Given the description of an element on the screen output the (x, y) to click on. 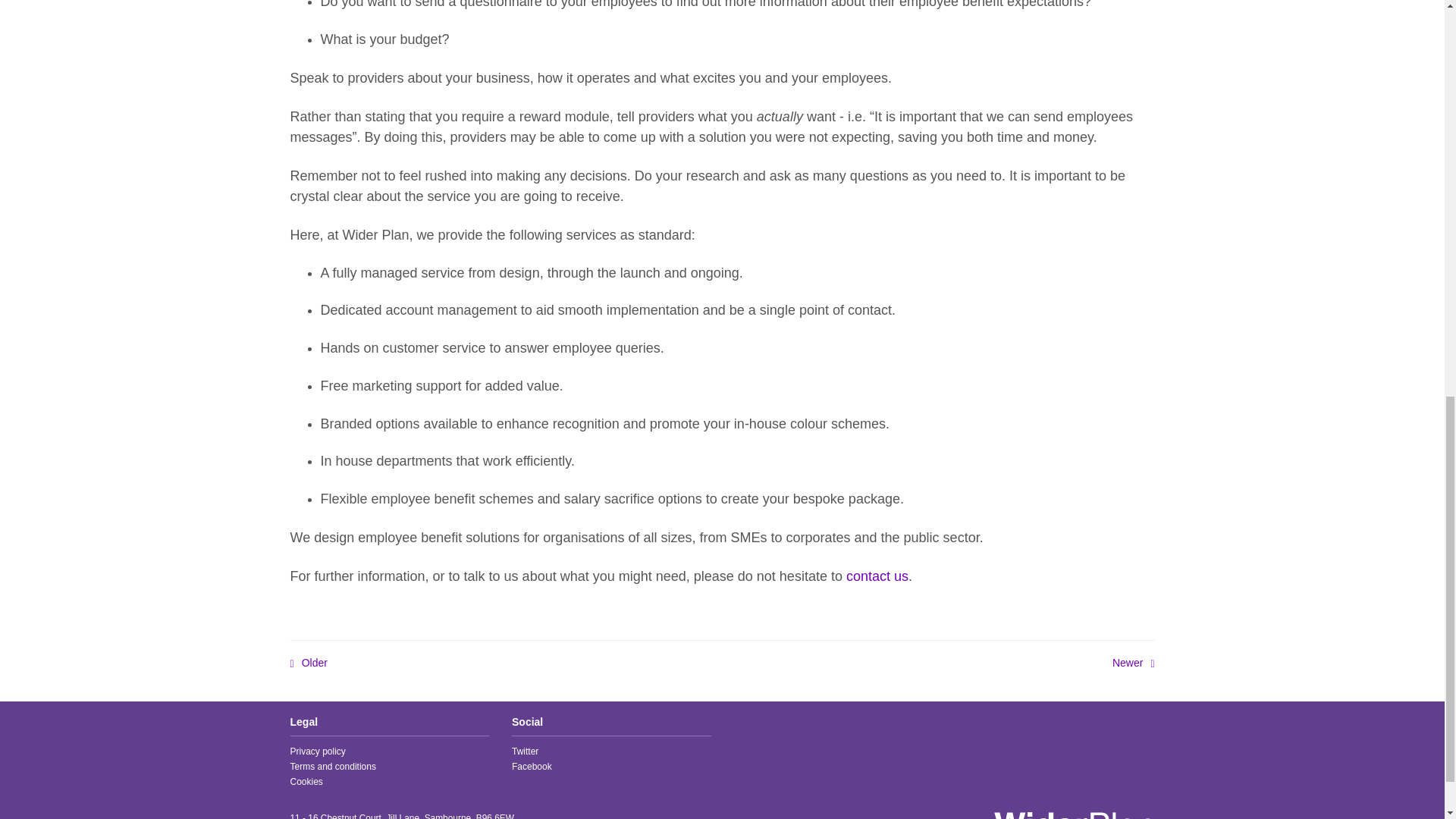
Facebook (531, 766)
contact us (876, 575)
Terms and conditions (332, 766)
Cookies (305, 781)
Newer (1133, 663)
Privacy policy (317, 751)
Twitter (525, 751)
Older (307, 662)
